Given the description of an element on the screen output the (x, y) to click on. 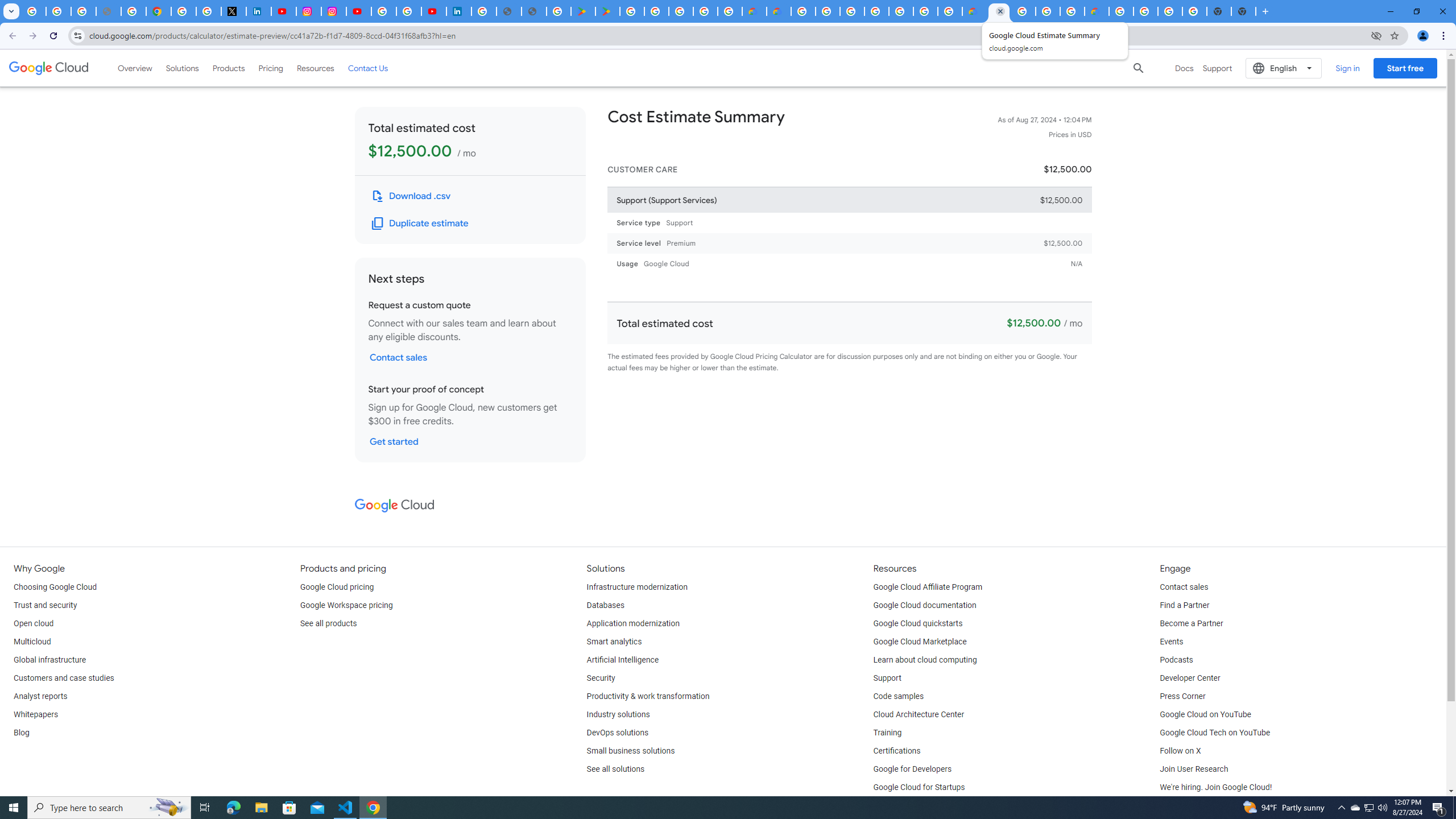
Podcasts (1175, 660)
Events (1170, 642)
Become a Partner (1190, 624)
Code samples (898, 696)
google_privacy_policy_en.pdf (509, 11)
Google Cloud Marketplace (919, 642)
Industry solutions (617, 714)
Join User Research (1193, 769)
Docs (1183, 67)
Follow on X (1179, 751)
Multicloud (31, 642)
